Given the description of an element on the screen output the (x, y) to click on. 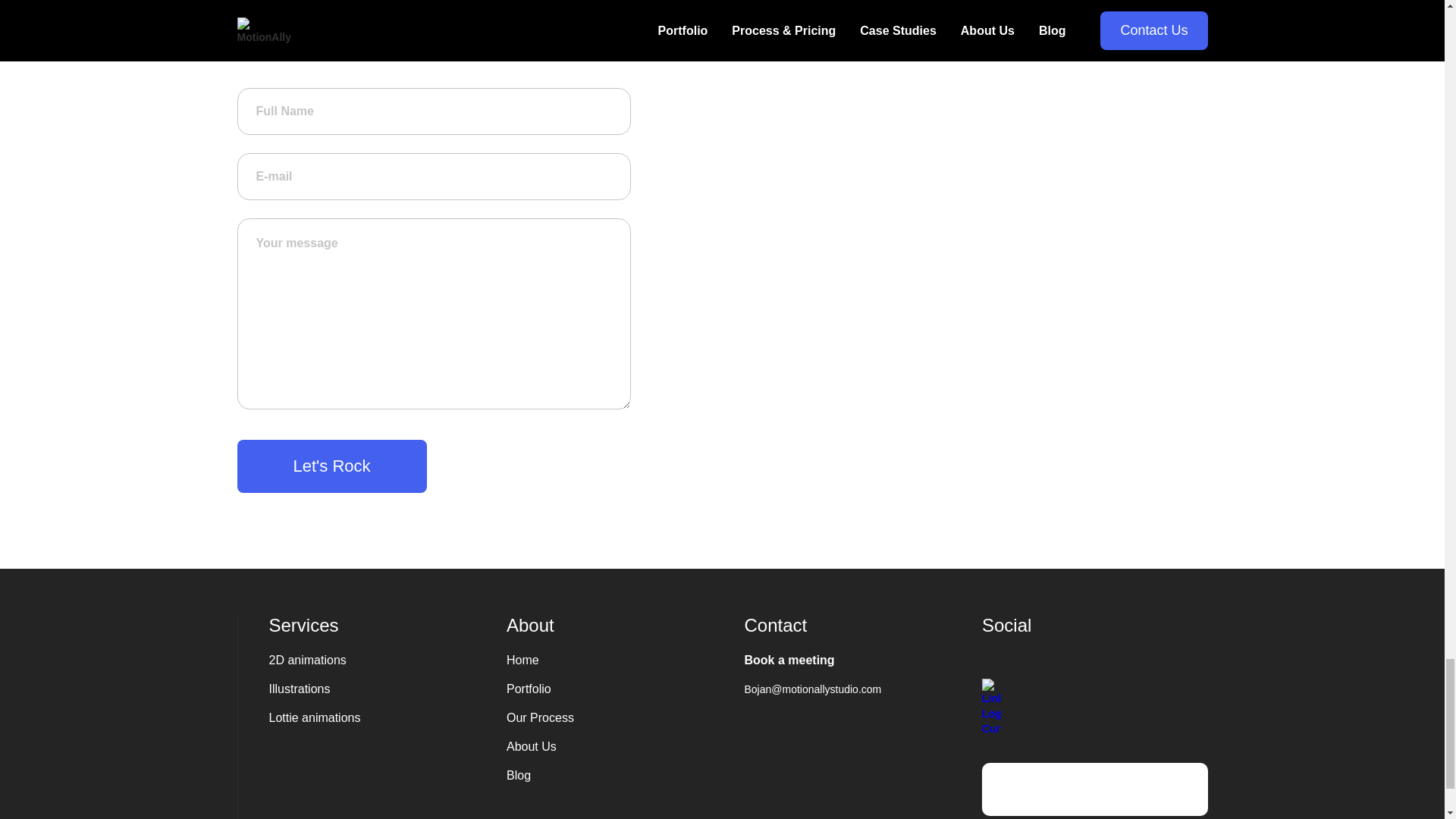
Our Process (619, 718)
Portfolio (619, 689)
Let's Rock (330, 466)
About Us (619, 746)
Let's Rock (330, 466)
2D animations (381, 665)
Illustrations (381, 694)
Home (619, 660)
Blog (619, 775)
Book a meeting (857, 660)
Lottie animations (381, 723)
